Given the description of an element on the screen output the (x, y) to click on. 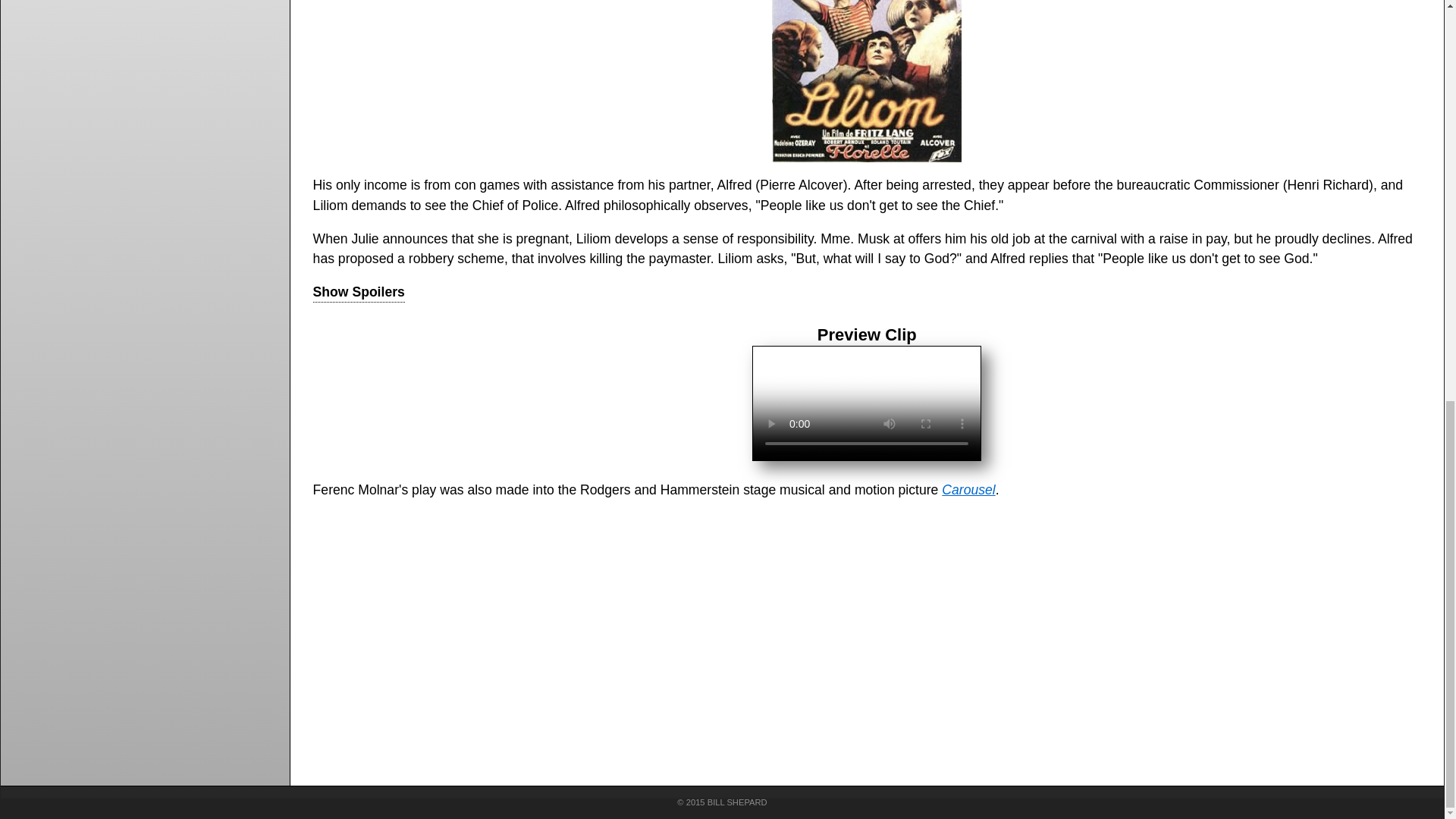
Carousel (968, 489)
Show Spoilers (358, 291)
